Given the description of an element on the screen output the (x, y) to click on. 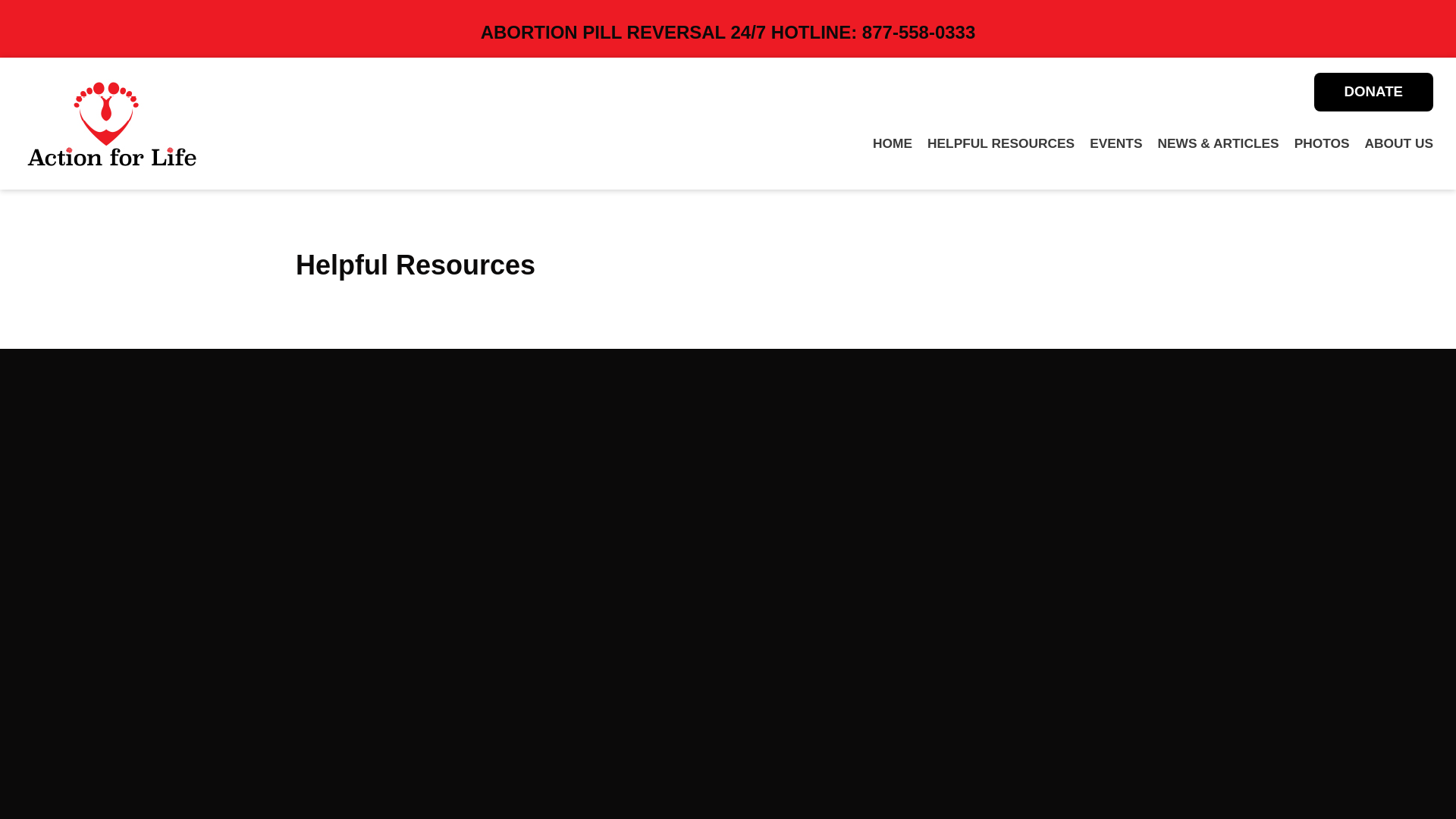
PHOTOS (1321, 143)
ABOUT US (1399, 143)
DONATE (1373, 91)
EVENTS (1115, 143)
HELPFUL RESOURCES (1000, 143)
HOME (892, 143)
Action for Life (111, 123)
